Given the description of an element on the screen output the (x, y) to click on. 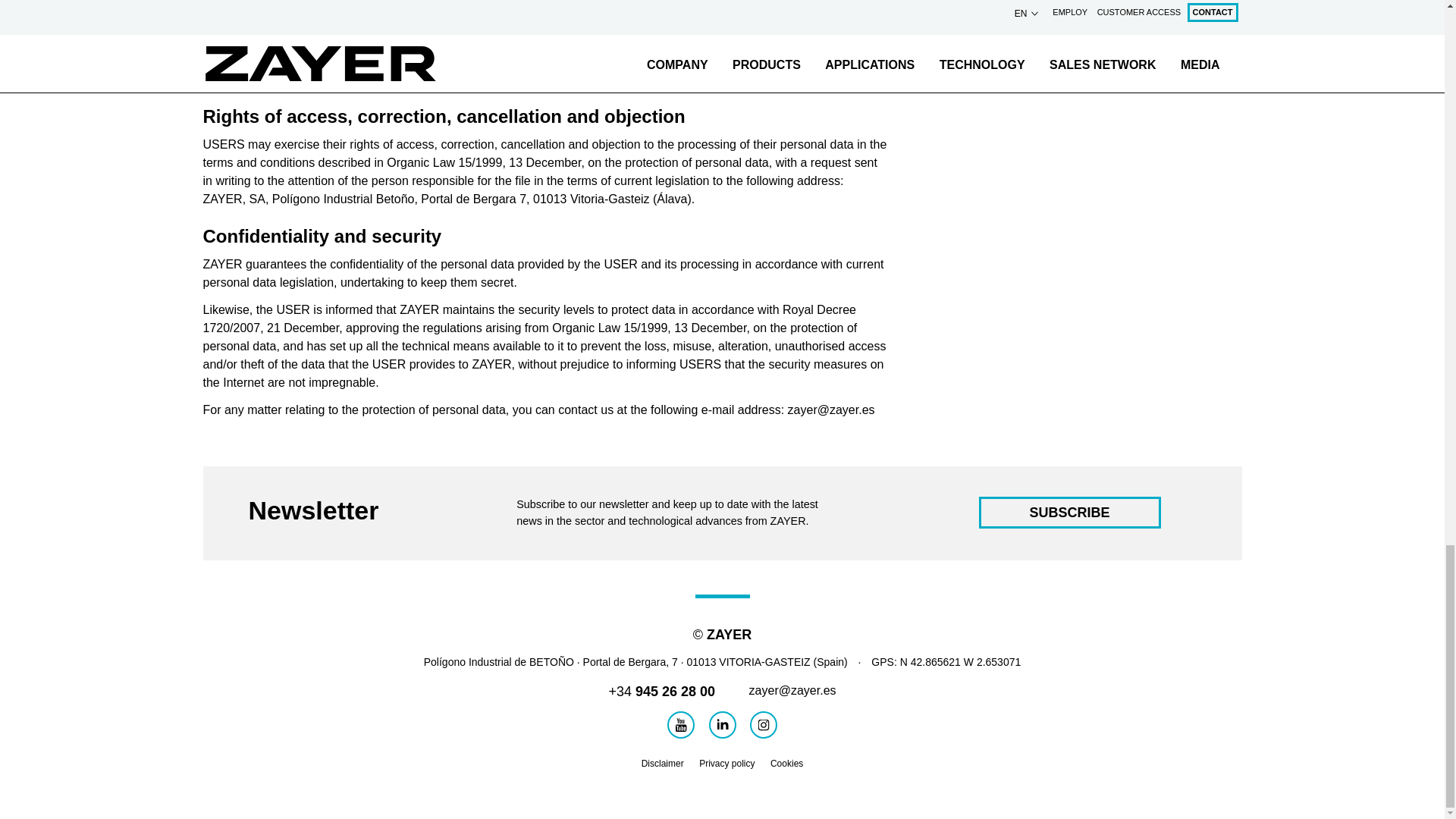
Linkedin (721, 724)
YouTube (680, 724)
Instagram (763, 724)
